Given the description of an element on the screen output the (x, y) to click on. 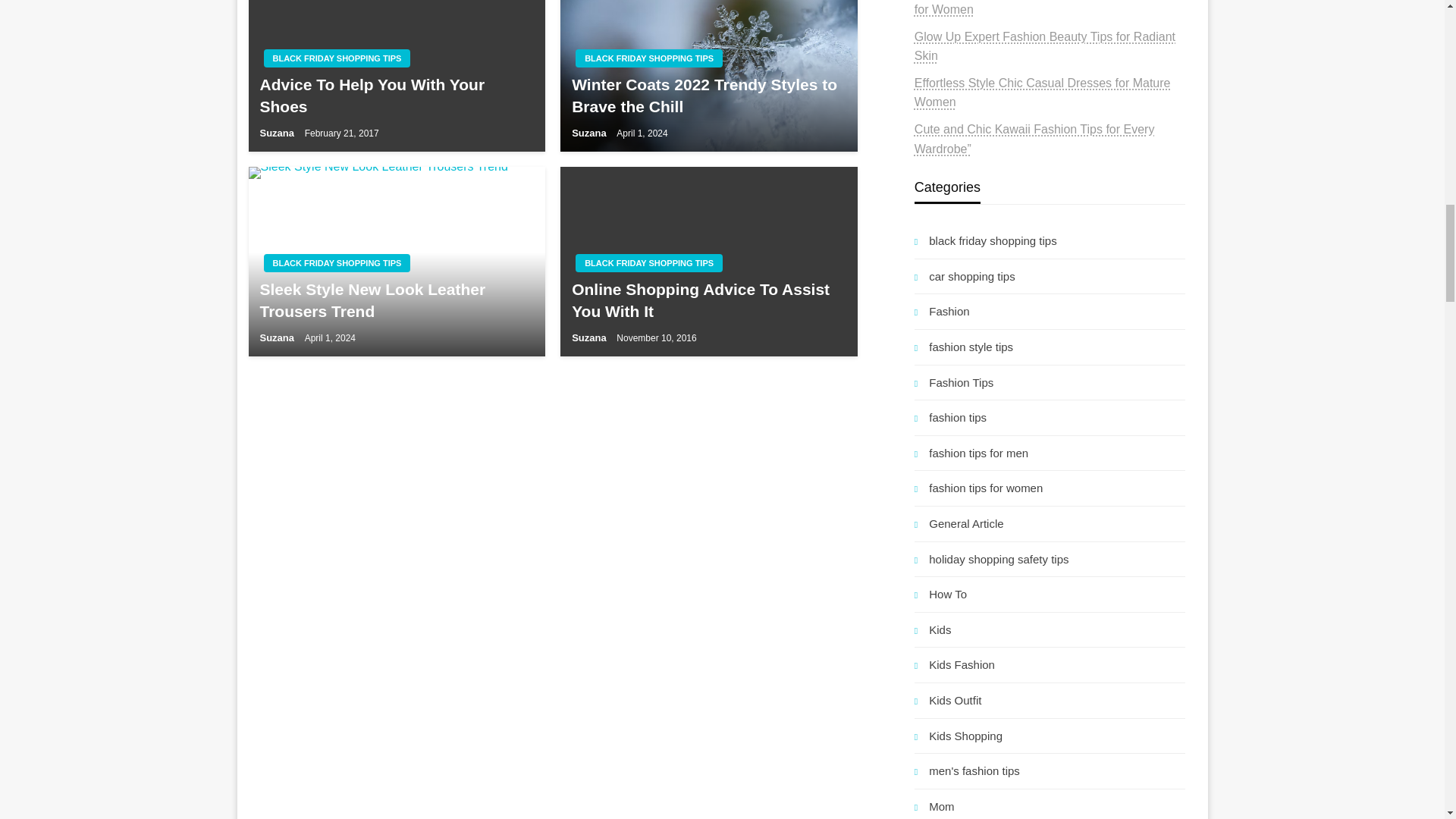
Sleek Style New Look Leather Trousers Trend (397, 261)
Winter Coats 2022 Trendy Styles to Brave the Chill (708, 75)
Suzana (278, 132)
BLACK FRIDAY SHOPPING TIPS (336, 58)
Advice To Help You With Your Shoes (396, 95)
